Given the description of an element on the screen output the (x, y) to click on. 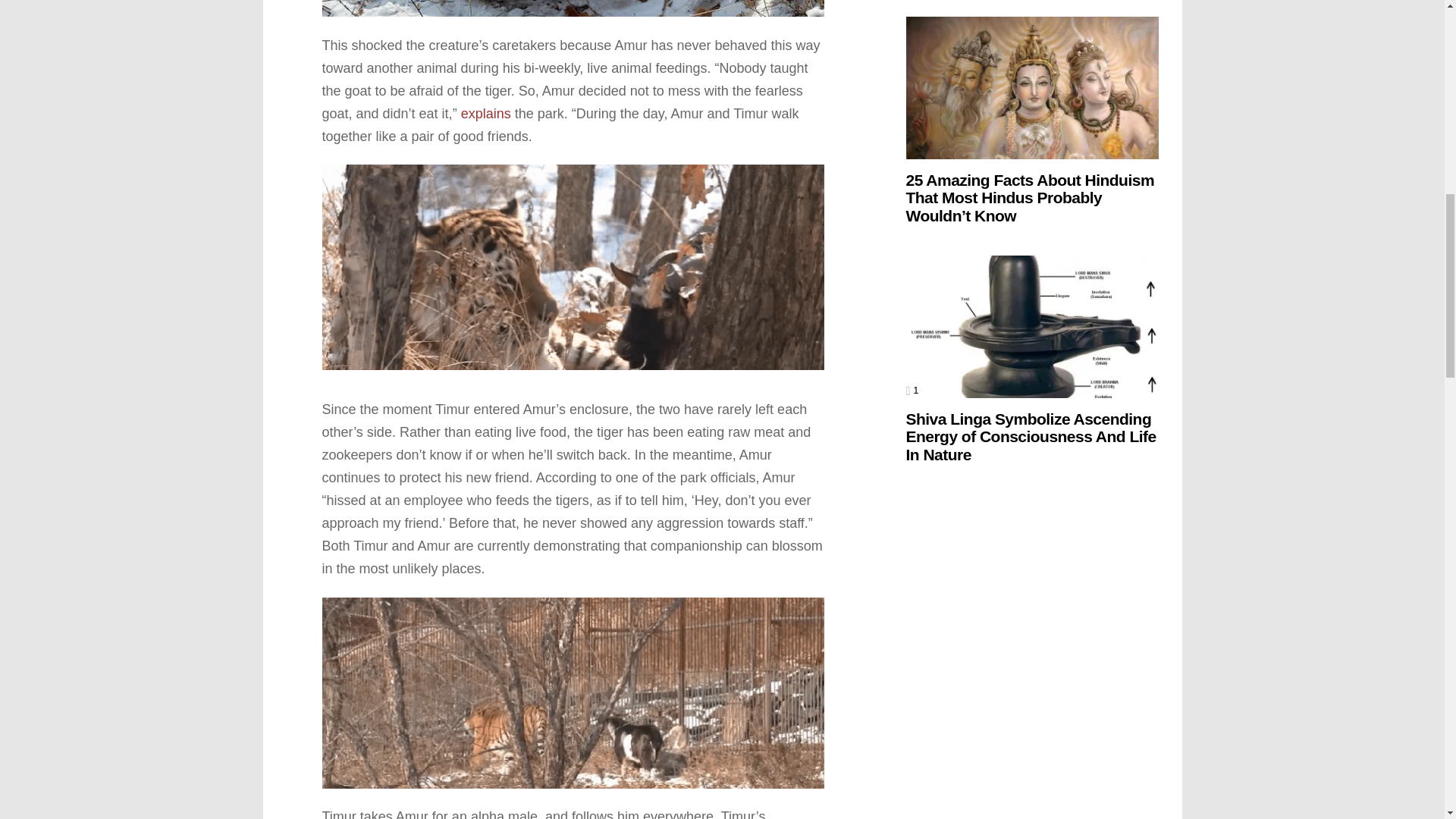
explains (486, 113)
